Given the description of an element on the screen output the (x, y) to click on. 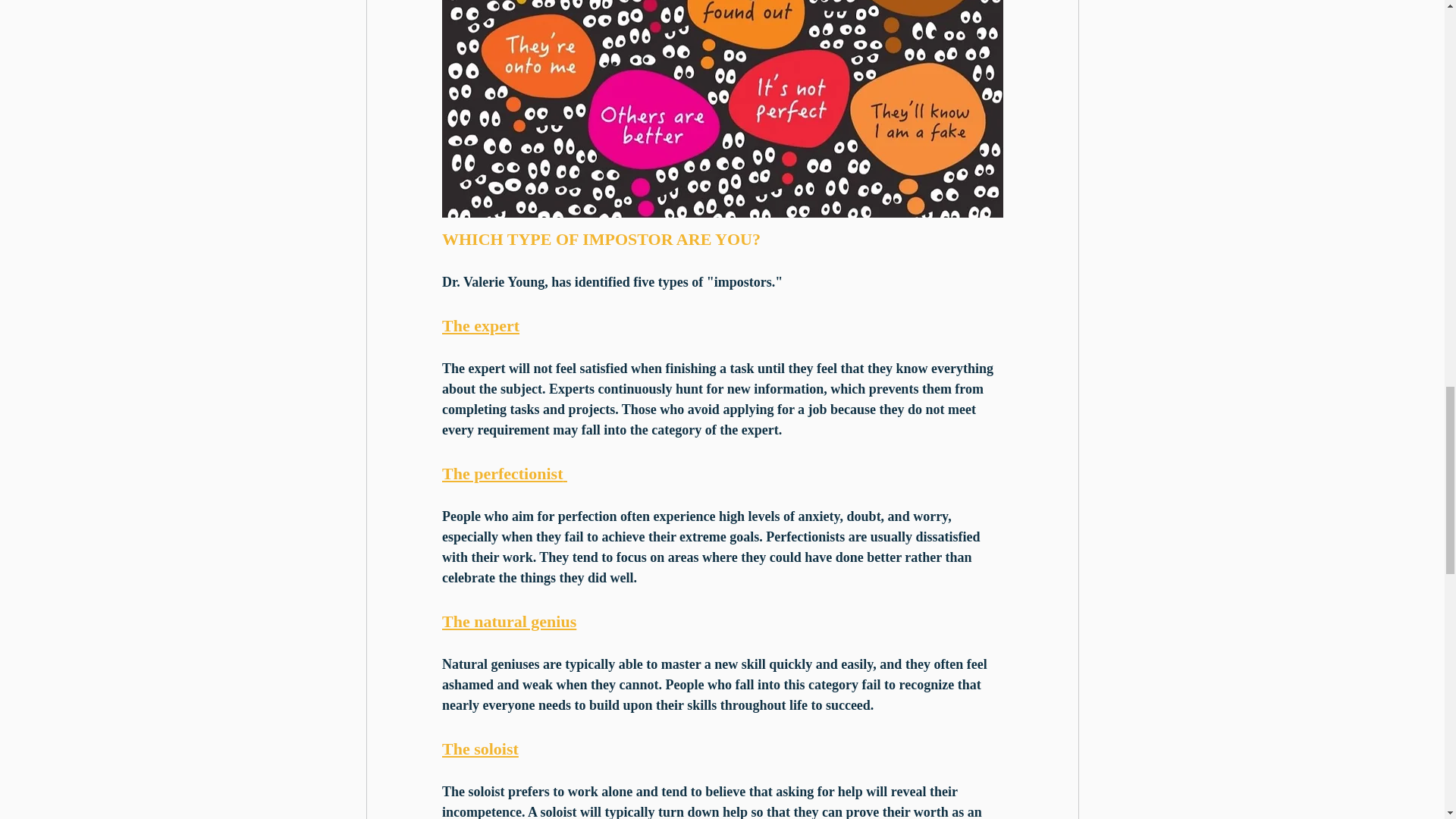
anxiety (818, 516)
